Given the description of an element on the screen output the (x, y) to click on. 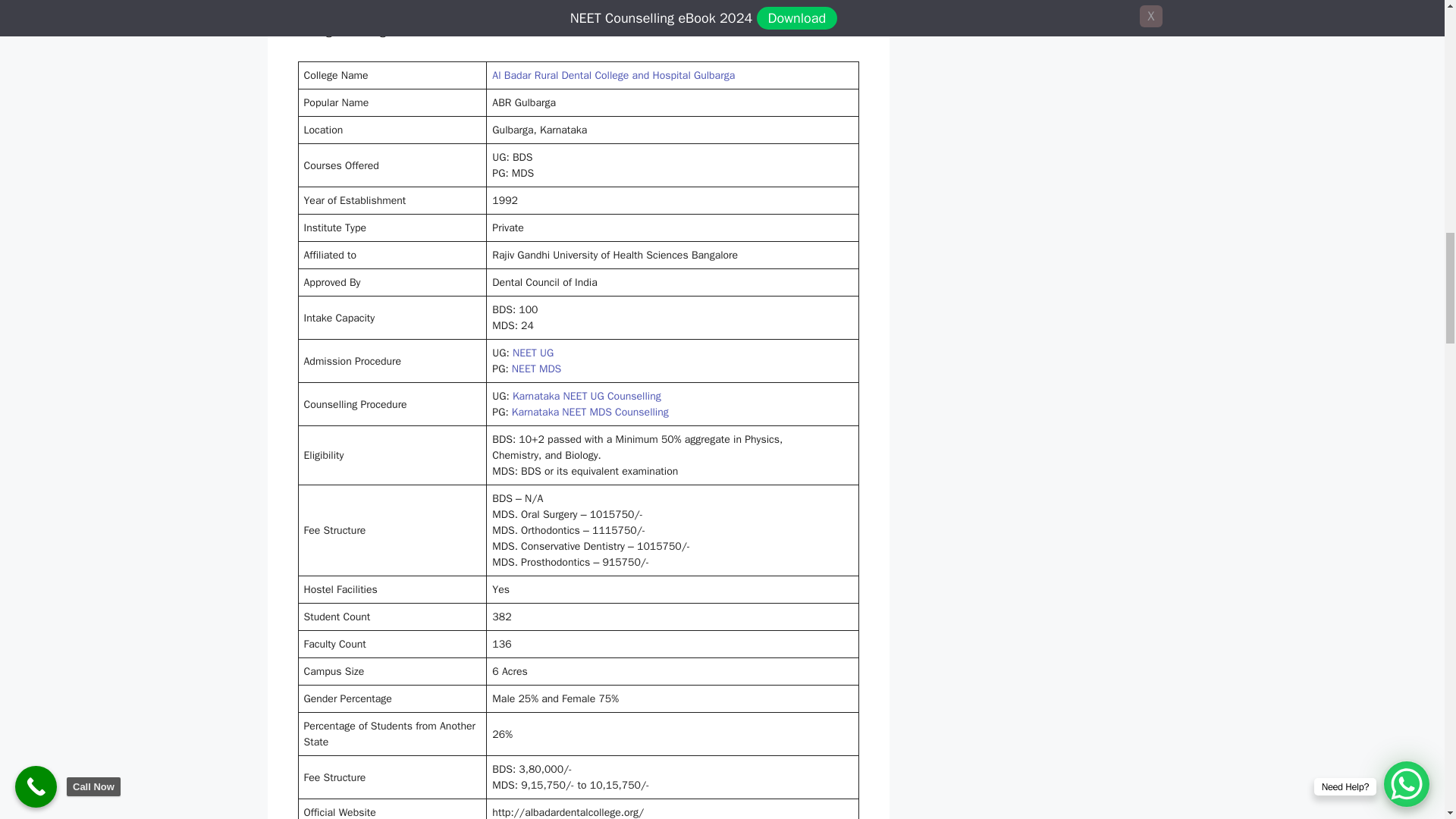
NEET UG (532, 352)
NEET MDS (536, 368)
Al Badar Rural Dental College and Hospital Gulbarga (613, 74)
Karnataka NEET MDS Counselling (590, 411)
Karnataka NEET UG Counselling (586, 395)
